Given the description of an element on the screen output the (x, y) to click on. 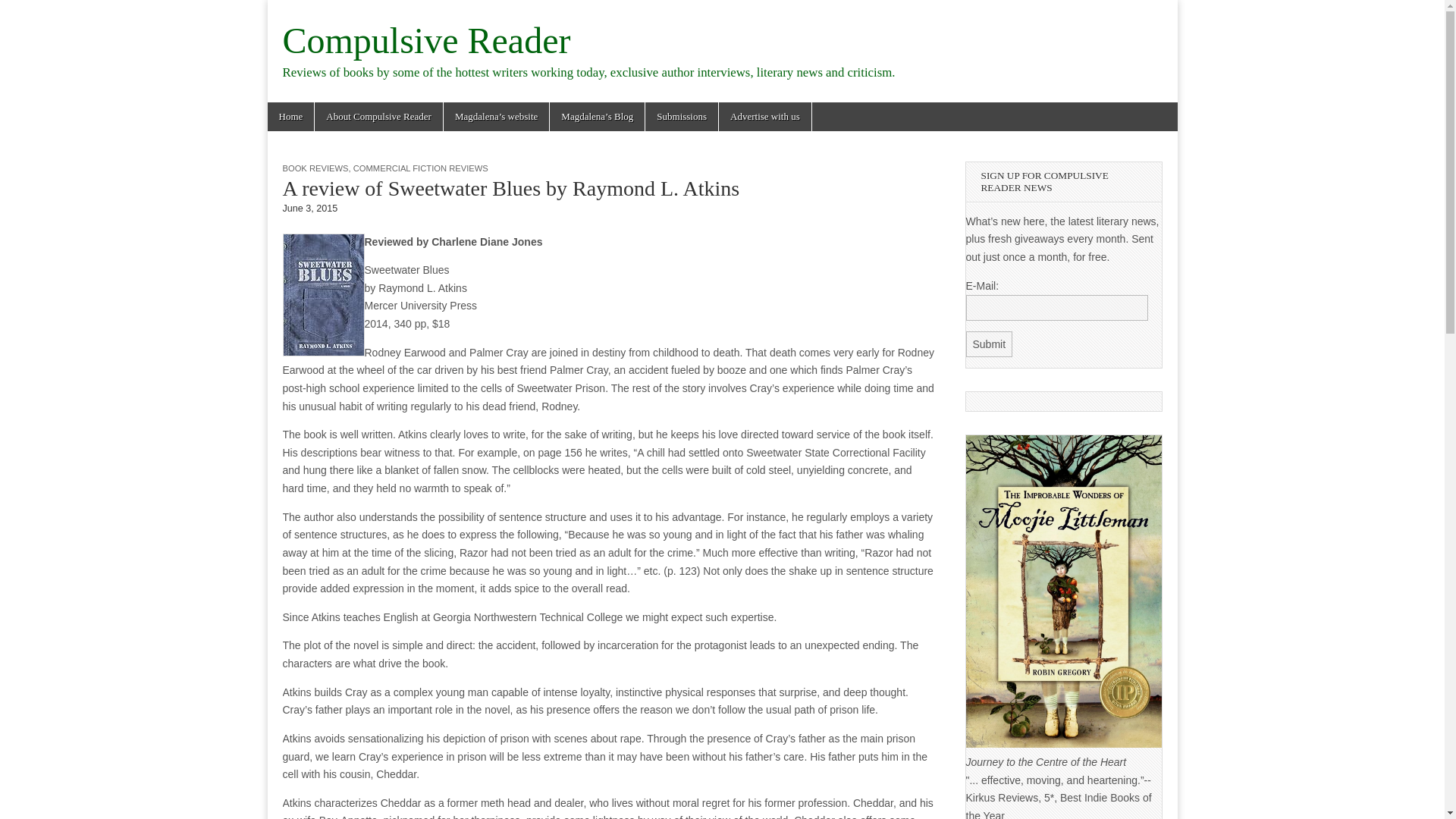
Advertise with us (764, 116)
Submissions (681, 116)
Compulsive Reader (426, 40)
COMMERCIAL FICTION REVIEWS (420, 167)
BOOK REVIEWS (314, 167)
About Compulsive Reader (378, 116)
Search (23, 12)
Home (290, 116)
Submit (989, 344)
Submit (989, 344)
Compulsive Reader (426, 40)
